Given the description of an element on the screen output the (x, y) to click on. 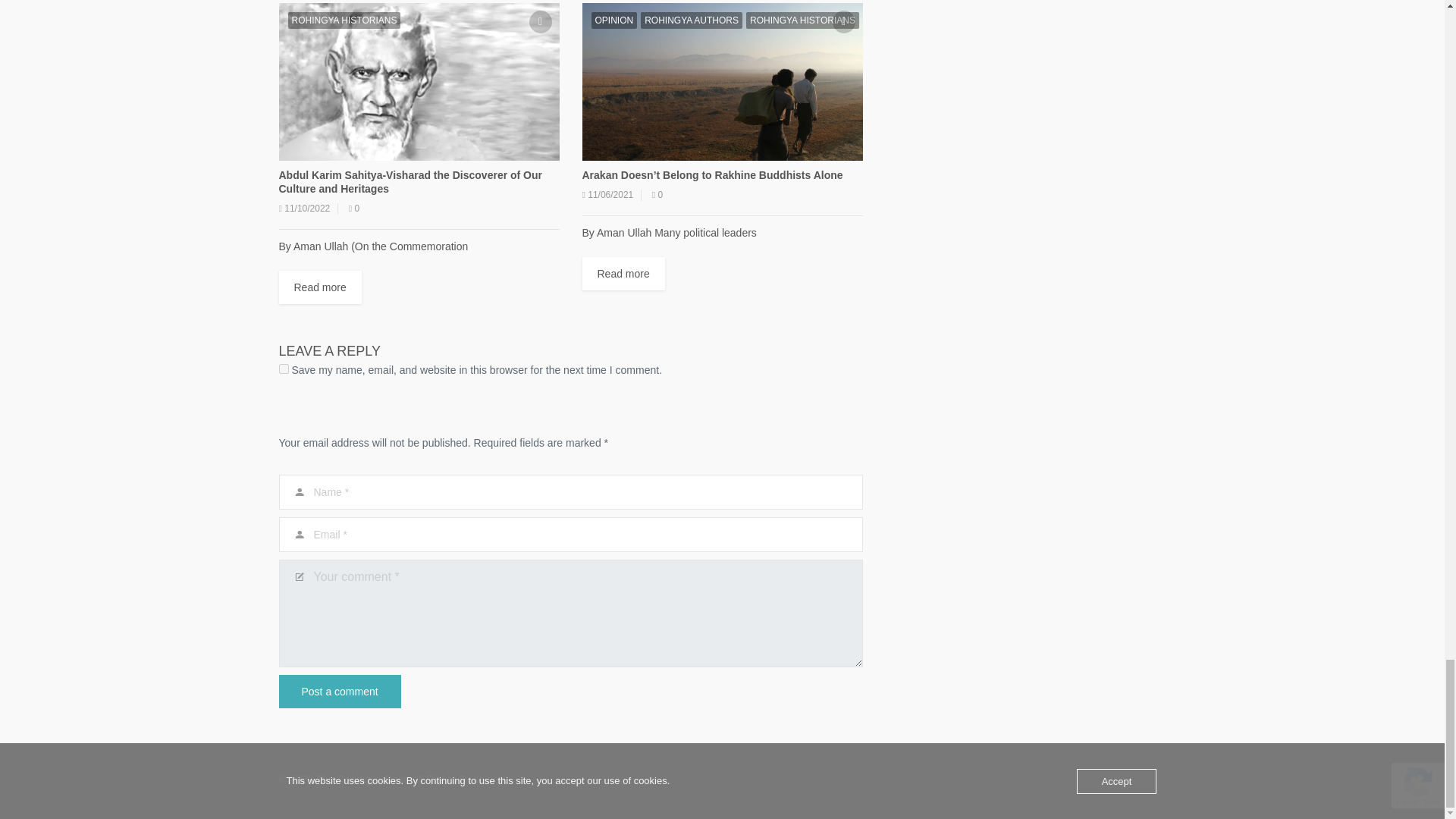
Post a comment (340, 691)
ROHINGYA HISTORIANS (344, 20)
yes (283, 368)
